Given the description of an element on the screen output the (x, y) to click on. 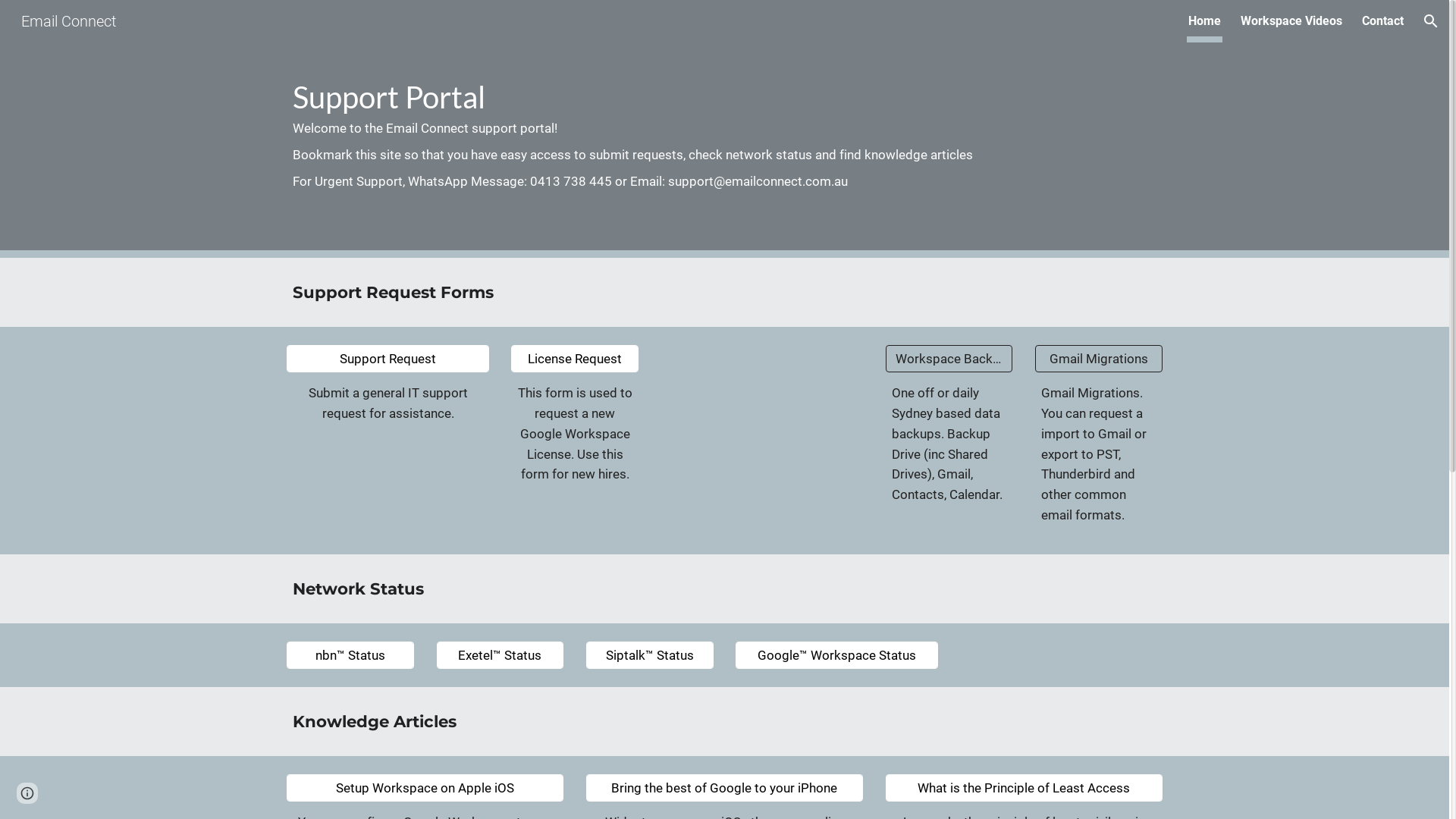
Contact Element type: text (1382, 20)
License Request Element type: text (574, 358)
Email Connect Element type: text (68, 19)
Workspace Videos Element type: text (1291, 20)
Bring the best of Google to your iPhone Element type: text (724, 787)
Gmail Migrations Element type: text (1098, 358)
What is the Principle of Least Access Element type: text (1023, 787)
Home Element type: text (1204, 20)
Support Request Element type: text (387, 358)
Workspace Backups Element type: text (949, 358)
Setup Workspace on Apple iOS Element type: text (424, 787)
